Given the description of an element on the screen output the (x, y) to click on. 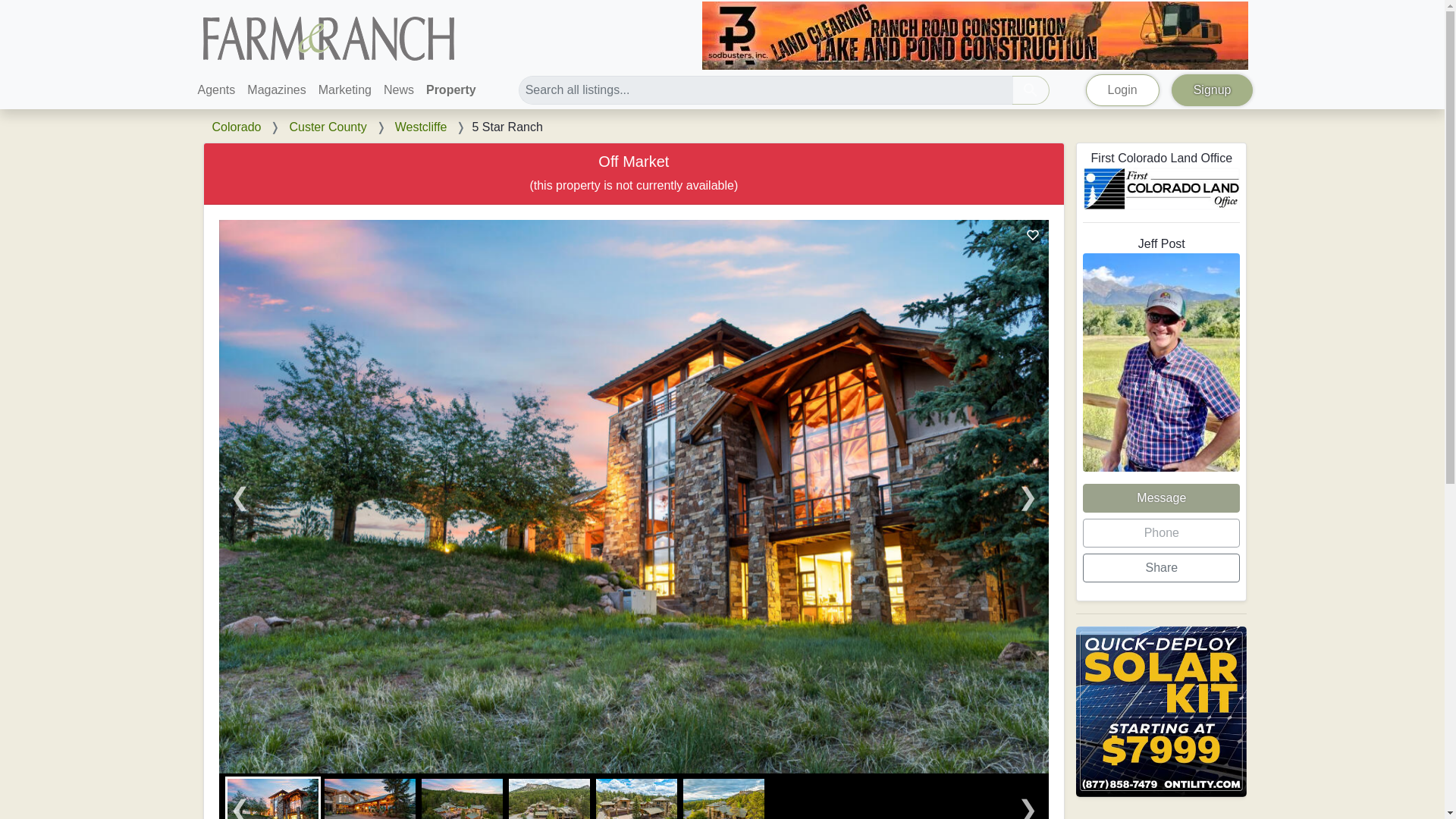
Signup (1212, 90)
Login (1121, 90)
Agents (215, 90)
Westcliffe (420, 126)
Colorado (236, 126)
News (398, 90)
Custer County (327, 126)
Magazines (276, 90)
Property (450, 90)
Marketing (345, 90)
